Given the description of an element on the screen output the (x, y) to click on. 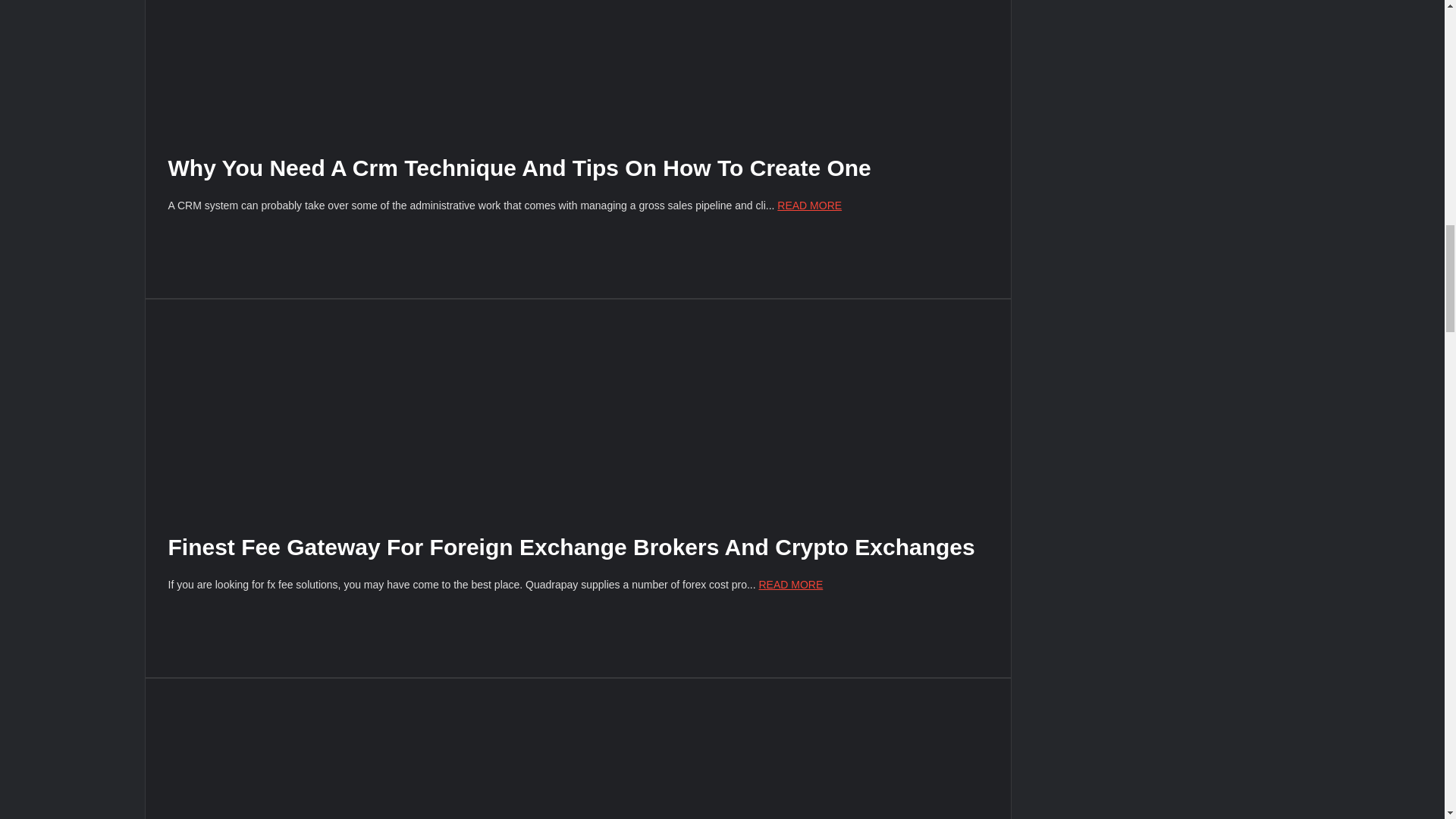
Why You Need A Crm Technique And Tips On How To Create One (519, 167)
READ MORE (790, 584)
READ MORE (809, 205)
